Given the description of an element on the screen output the (x, y) to click on. 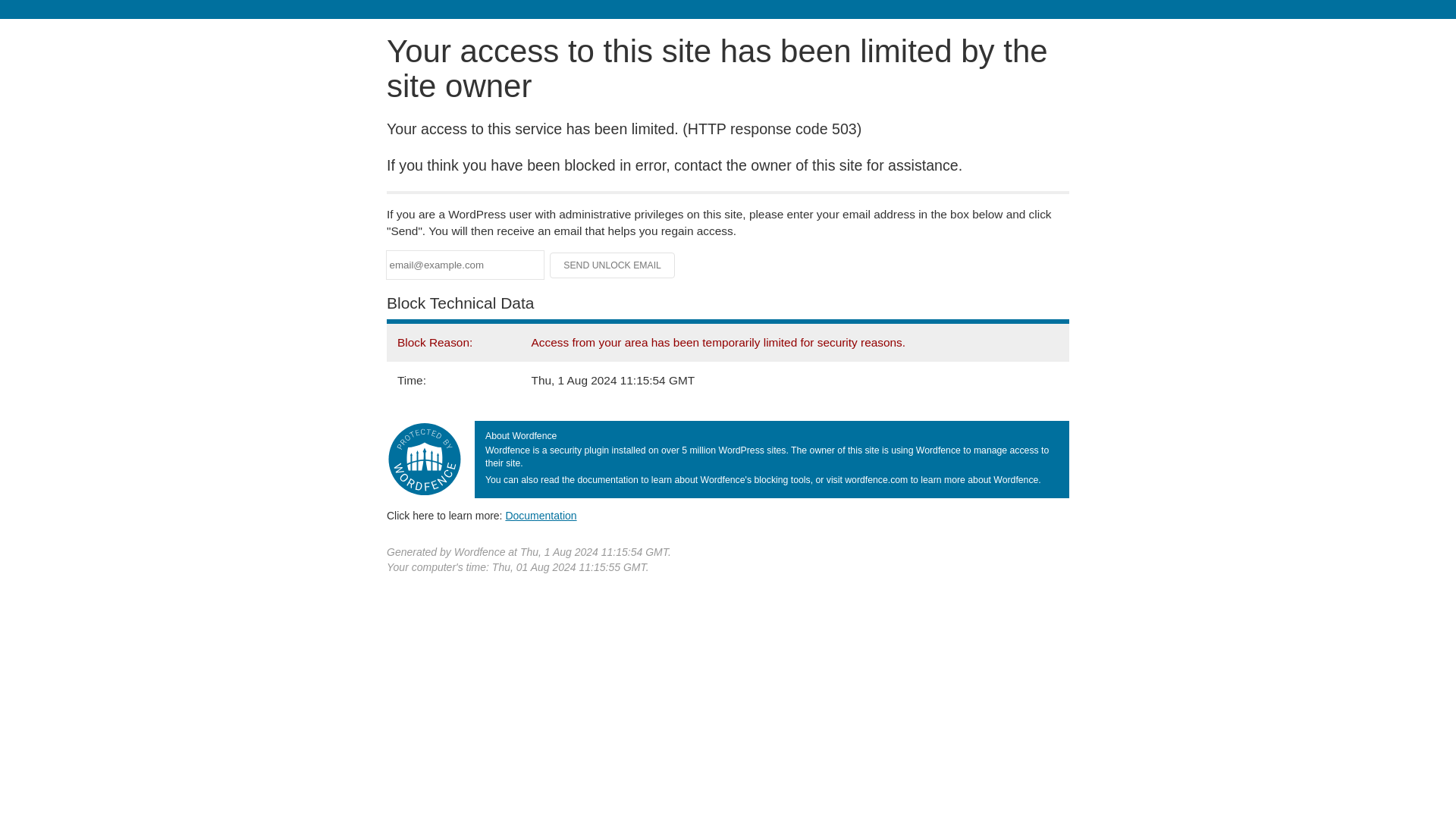
Documentation (540, 515)
Send Unlock Email (612, 265)
Send Unlock Email (612, 265)
